Given the description of an element on the screen output the (x, y) to click on. 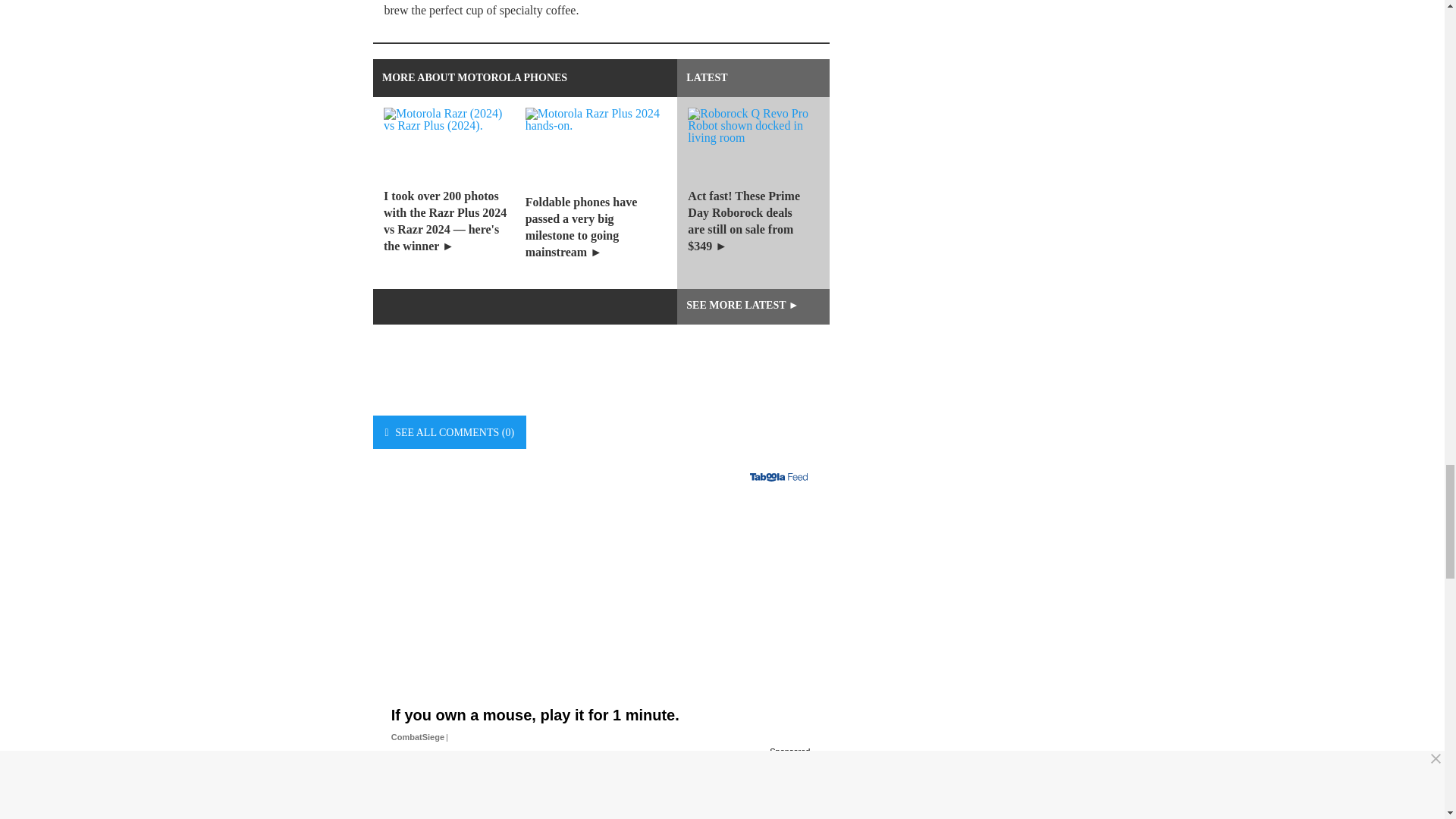
If you own a mouse, play it for 1 minute. (600, 618)
If you own a mouse, play it for 1 minute. (600, 749)
